Given the description of an element on the screen output the (x, y) to click on. 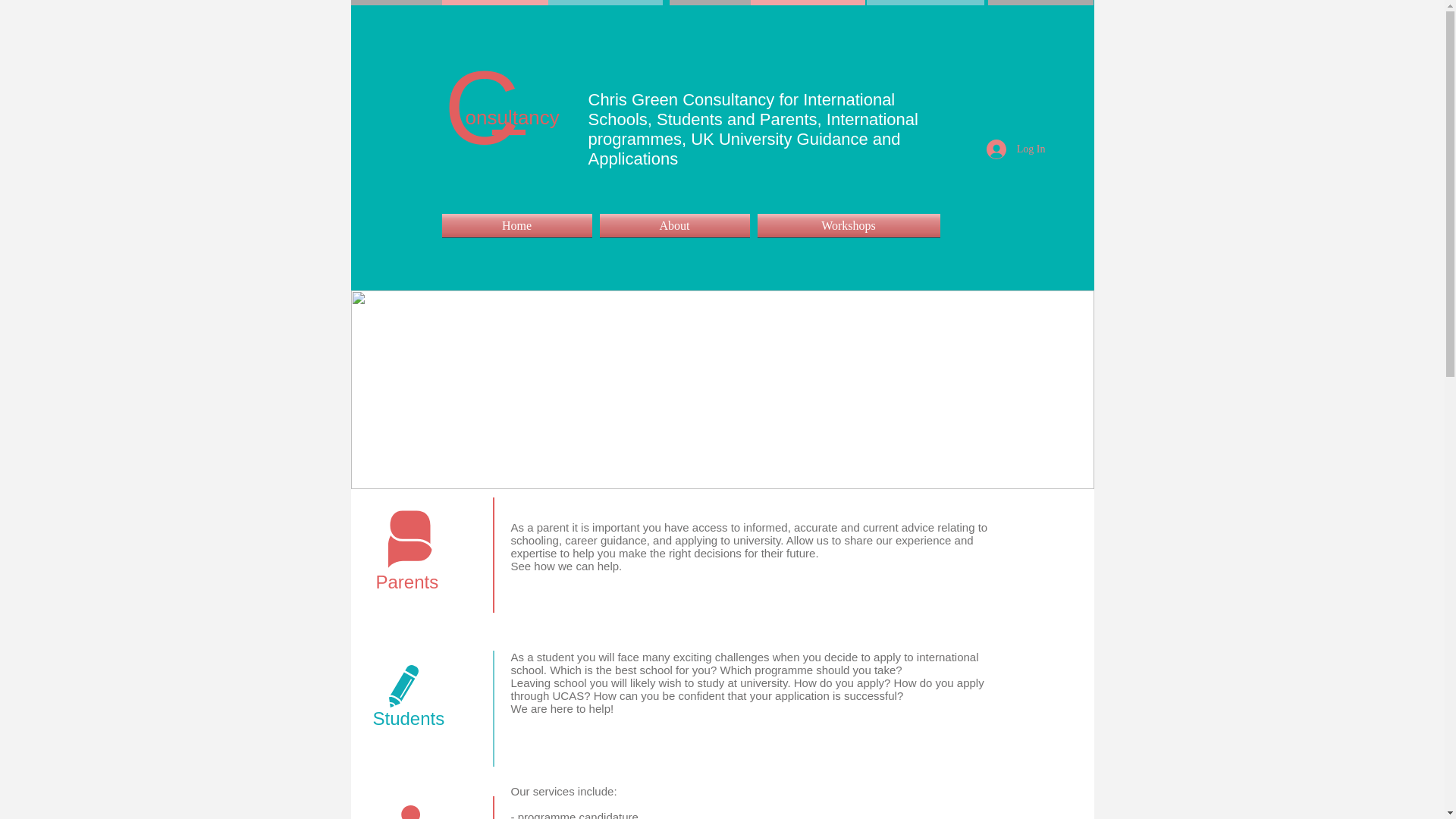
Workshops (847, 225)
Log In (1016, 149)
Home (518, 225)
We are here to help! (562, 707)
See how we can help. (567, 565)
About (674, 225)
